Given the description of an element on the screen output the (x, y) to click on. 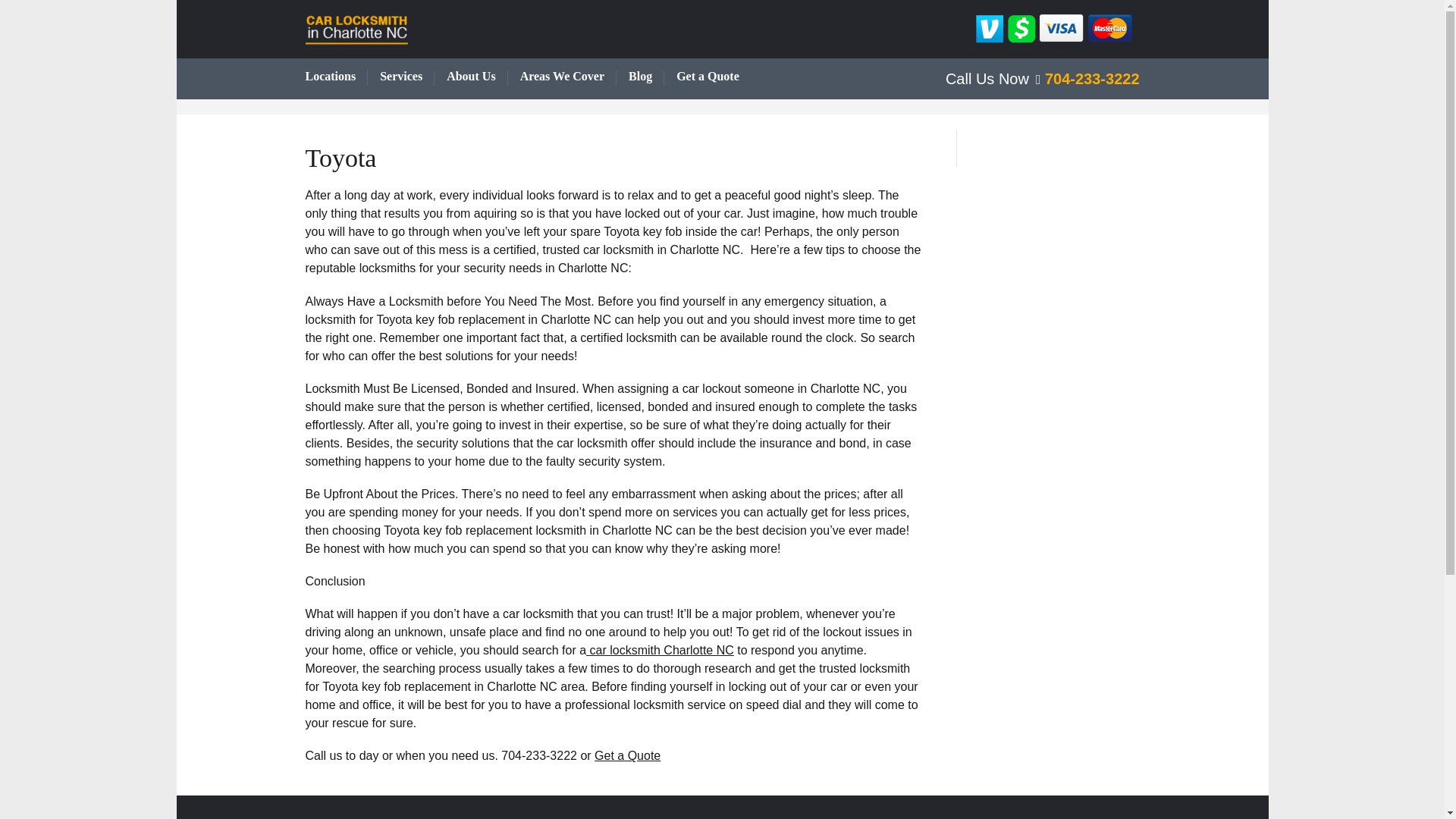
Locations (336, 77)
704-233-3222 (1087, 78)
Get a Quote (714, 77)
Services (406, 77)
Get a Quote (627, 755)
About Us (476, 77)
Blog (645, 77)
Areas We Cover (567, 77)
car locksmith Charlotte NC (659, 649)
